Given the description of an element on the screen output the (x, y) to click on. 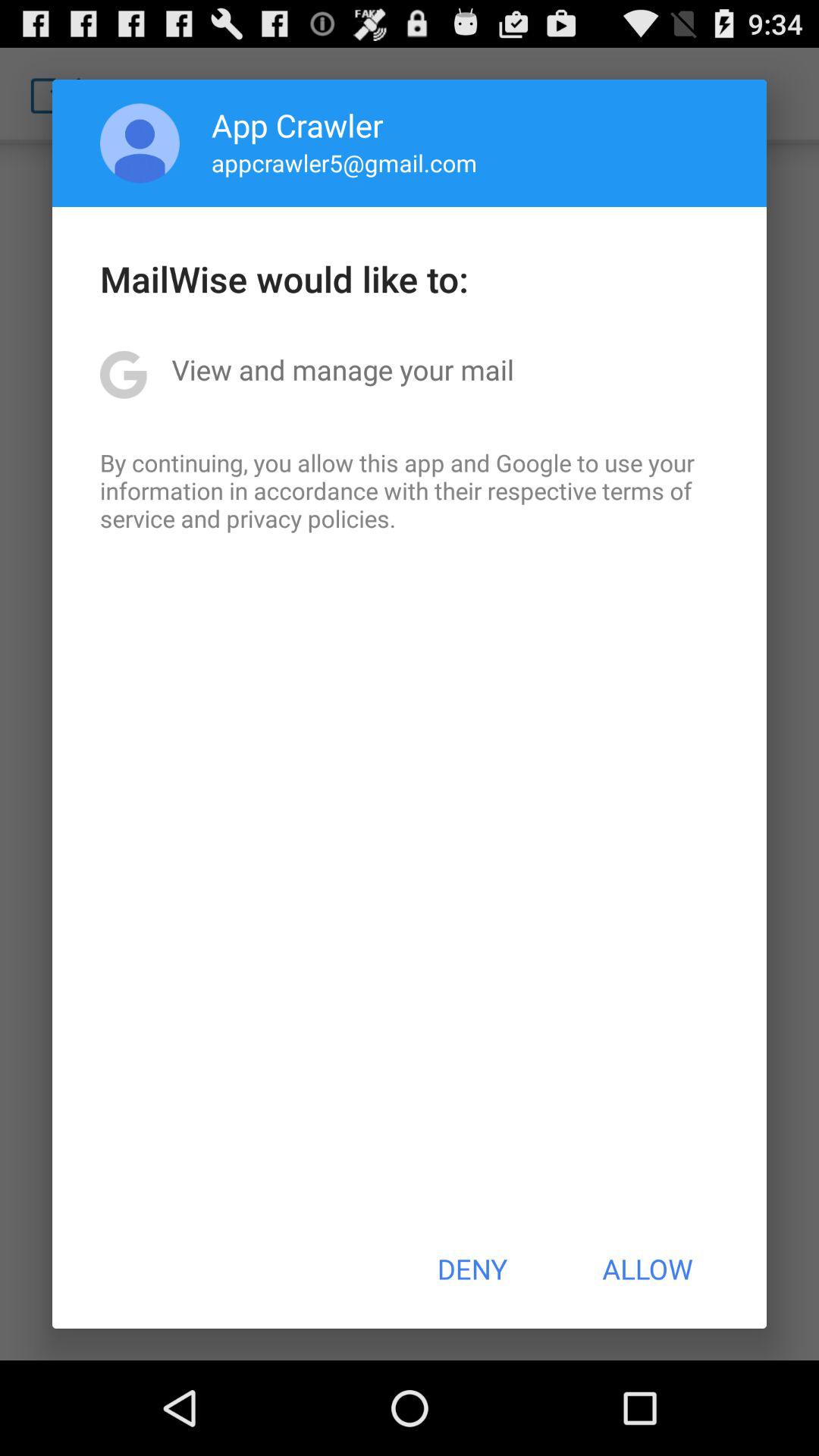
turn off appcrawler5@gmail.com (344, 162)
